Given the description of an element on the screen output the (x, y) to click on. 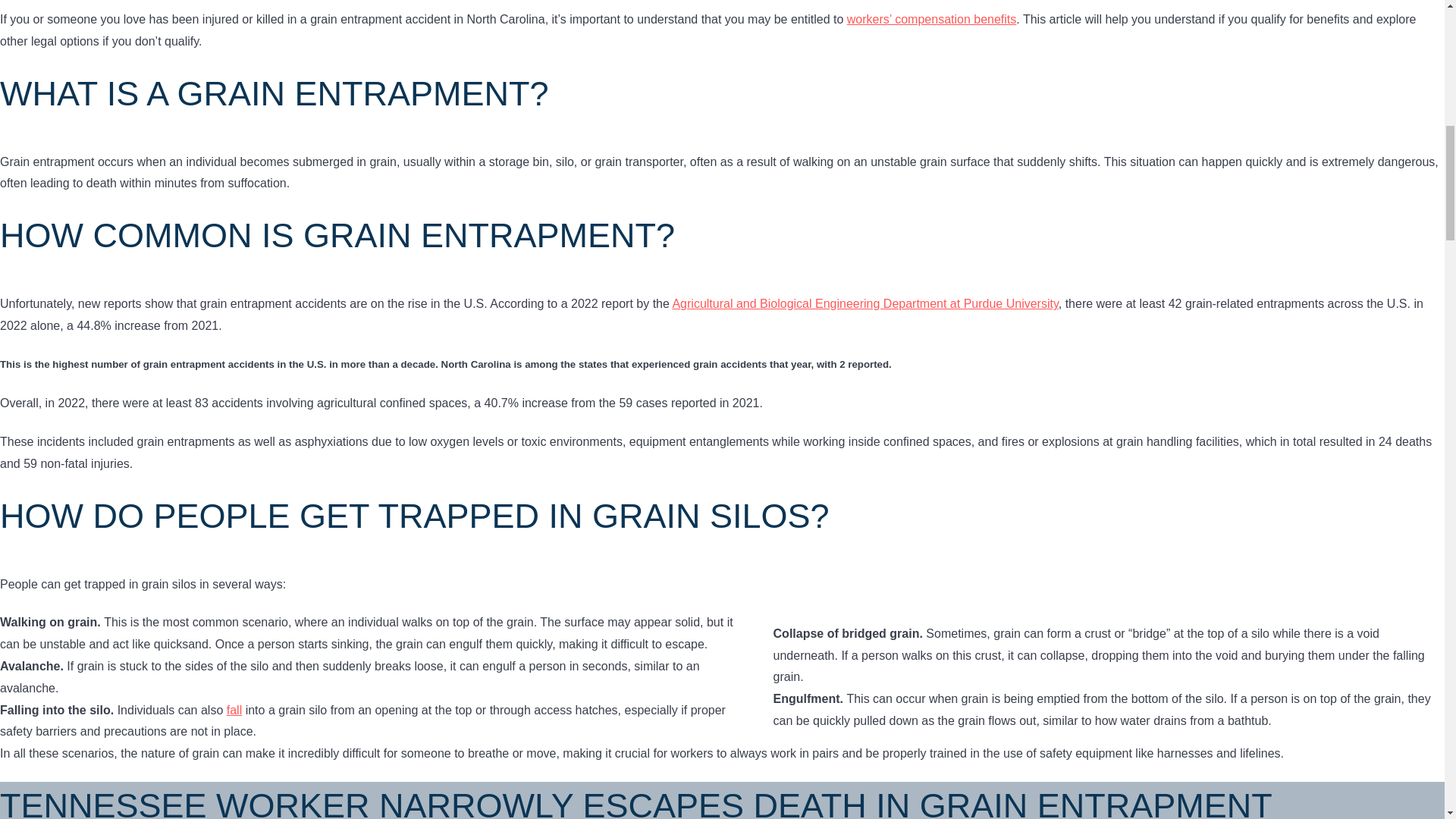
fall (234, 709)
